Given the description of an element on the screen output the (x, y) to click on. 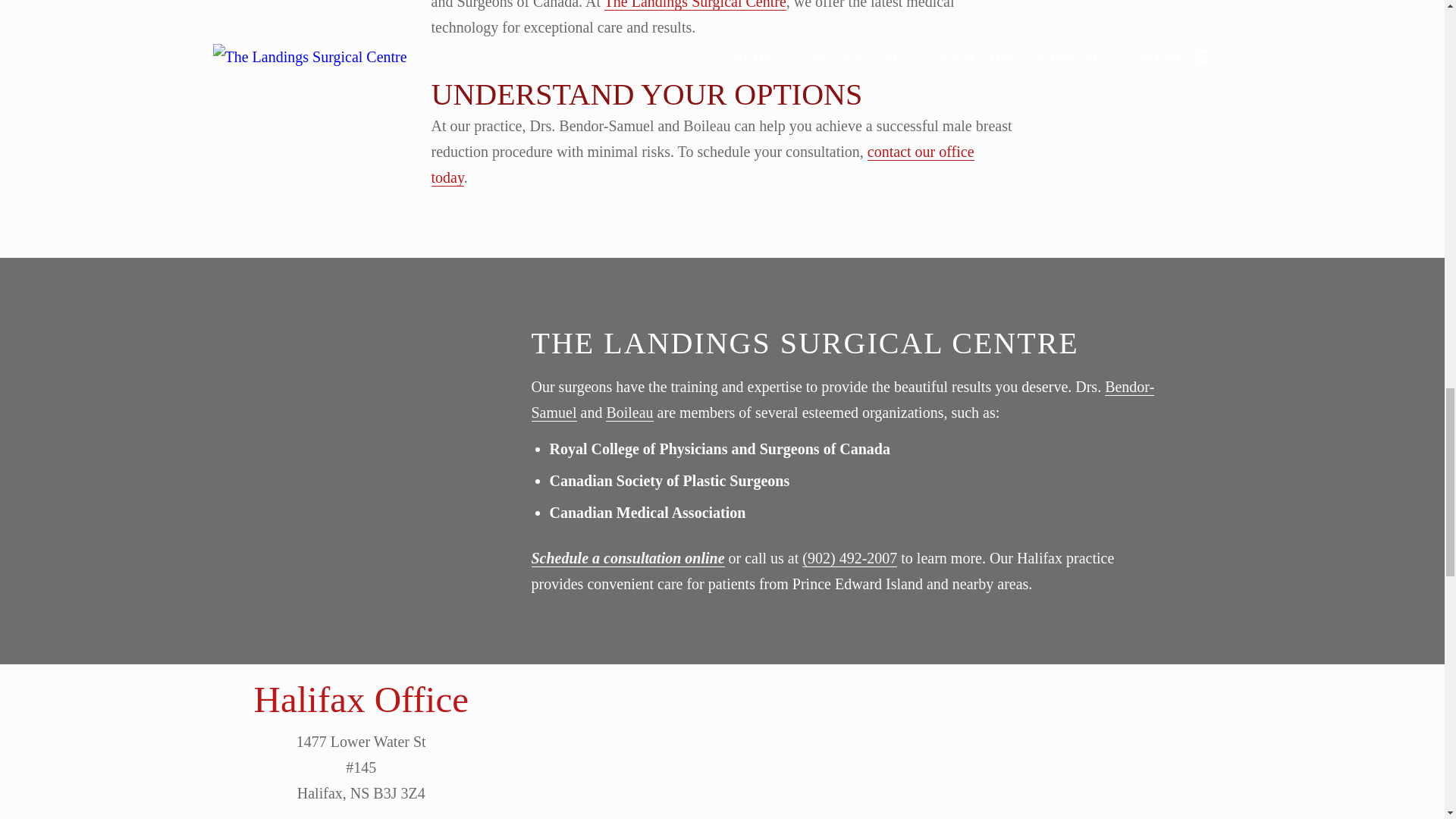
Bendor-Samuel (842, 399)
The Landings Surgical Centre (695, 5)
Boileau (628, 412)
Locations (1011, 677)
Halifax Office (360, 699)
Schedule a consultation online (627, 558)
contact our office today (702, 164)
